Given the description of an element on the screen output the (x, y) to click on. 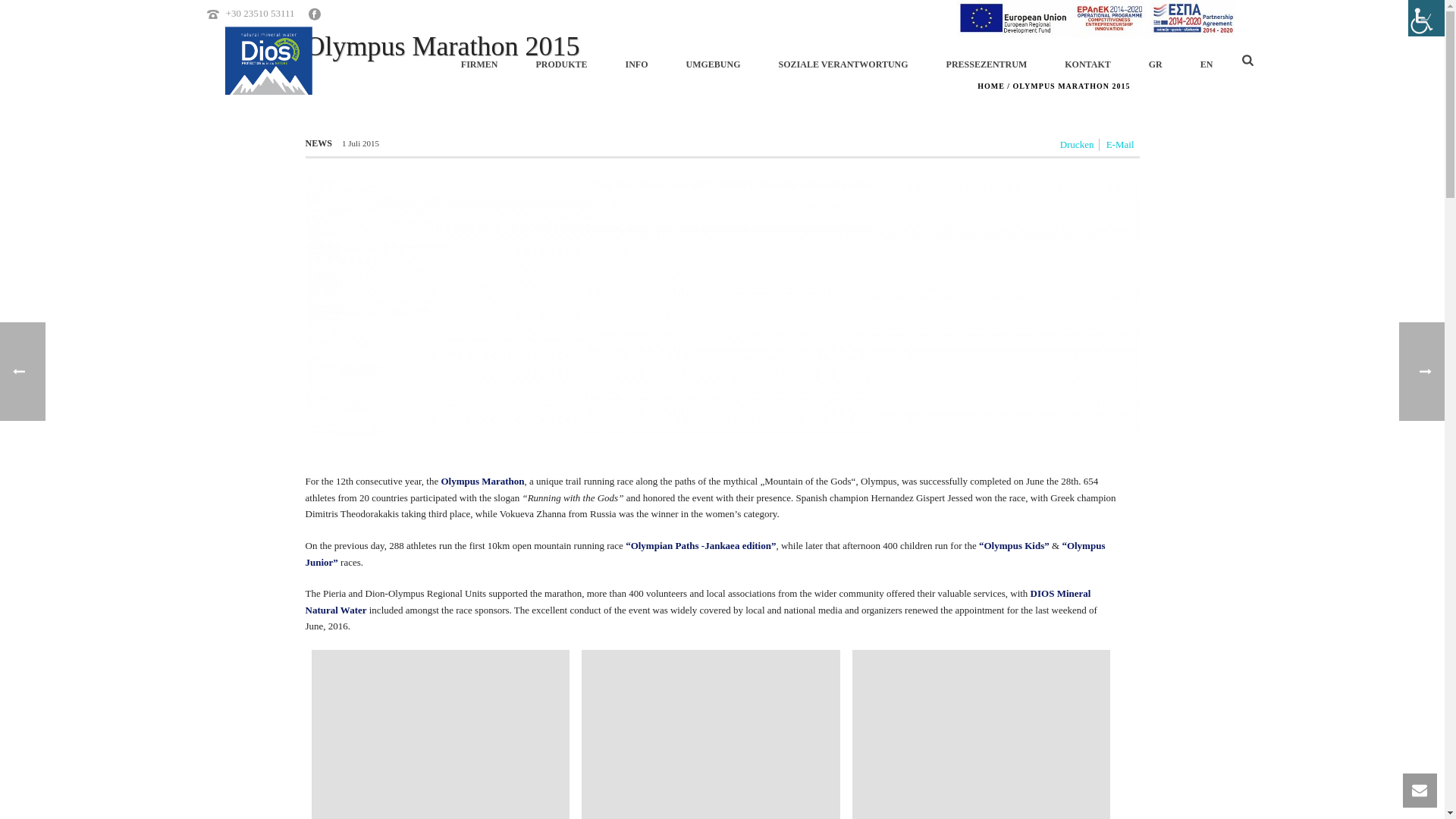
FIRMEN (479, 60)
SOZIALE VERANTWORTUNG (843, 60)
PRESSEZENTRUM (986, 60)
PRODUKTE (561, 60)
KONTAKT (1087, 60)
DIOS Olympus Marathon 2015 (980, 734)
UMGEBUNG (713, 60)
KONTAKT (1087, 60)
PRODUKTE (561, 60)
